Given the description of an element on the screen output the (x, y) to click on. 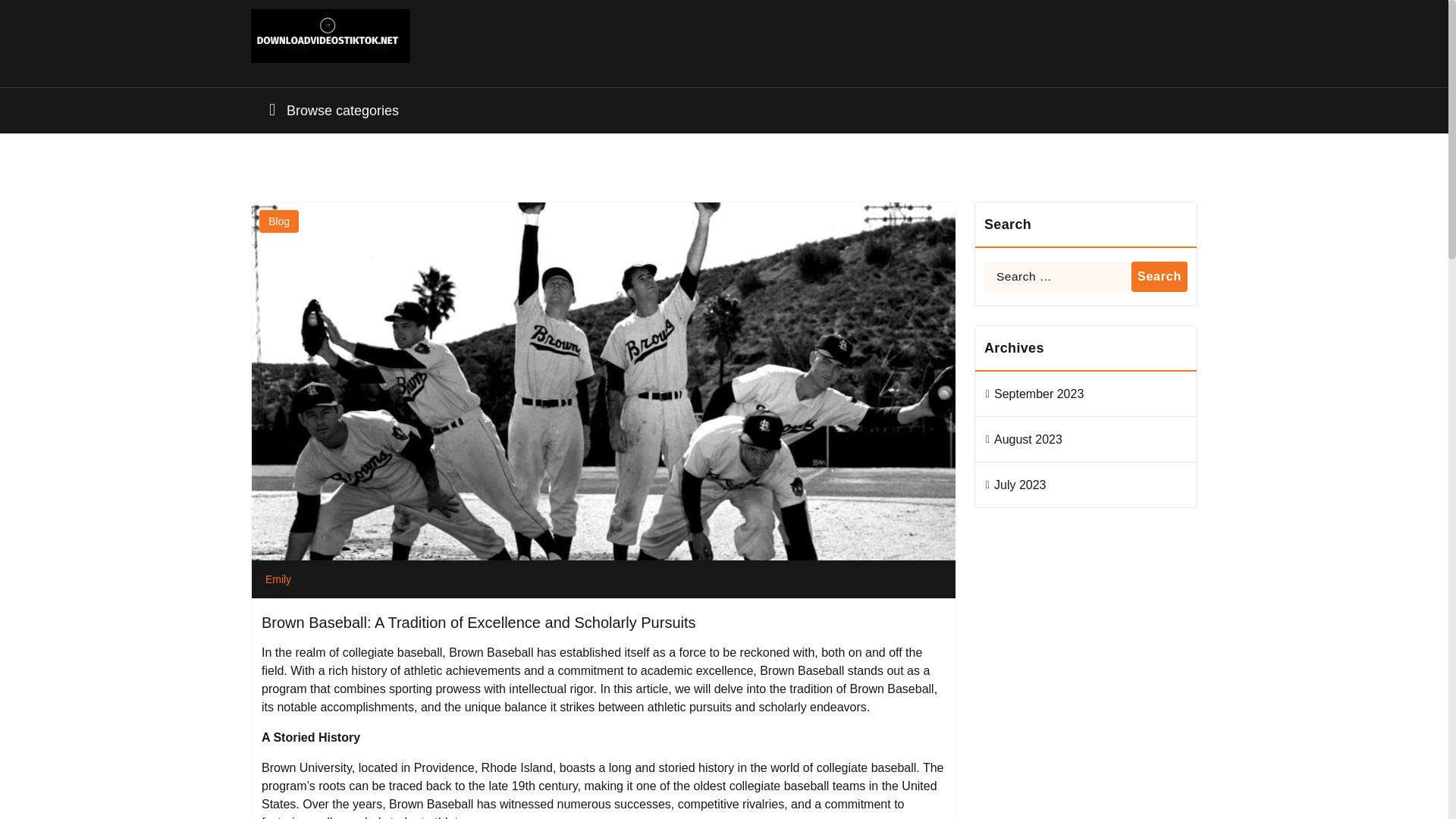
Search (1159, 276)
Browse categories (362, 110)
Emily (275, 579)
August 2023 (1028, 439)
Emily (275, 579)
July 2023 (1020, 484)
September 2023 (1038, 393)
Search (1159, 276)
Search (1159, 276)
Blog (278, 220)
